Given the description of an element on the screen output the (x, y) to click on. 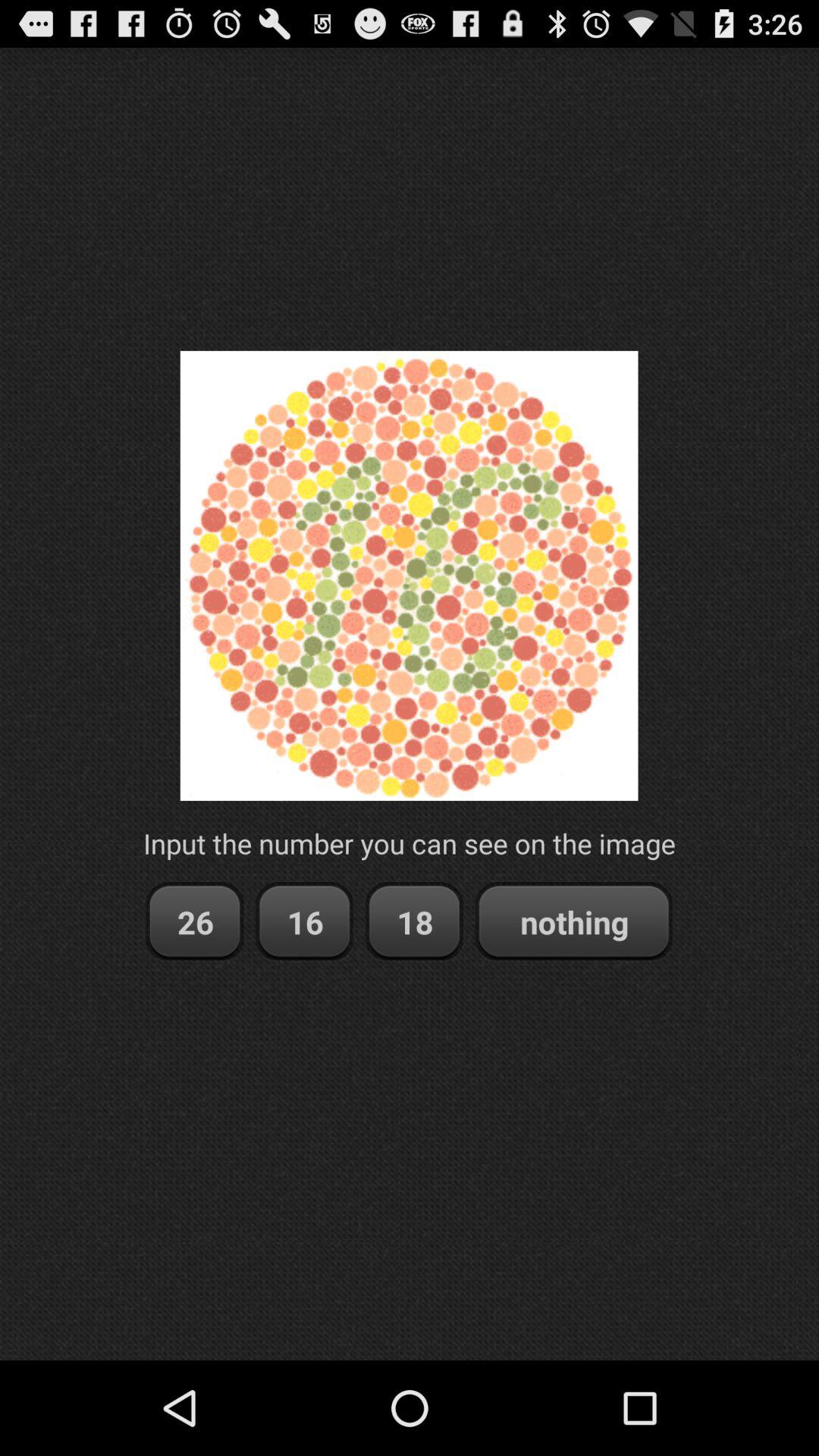
tap the item next to the 26 icon (304, 921)
